Given the description of an element on the screen output the (x, y) to click on. 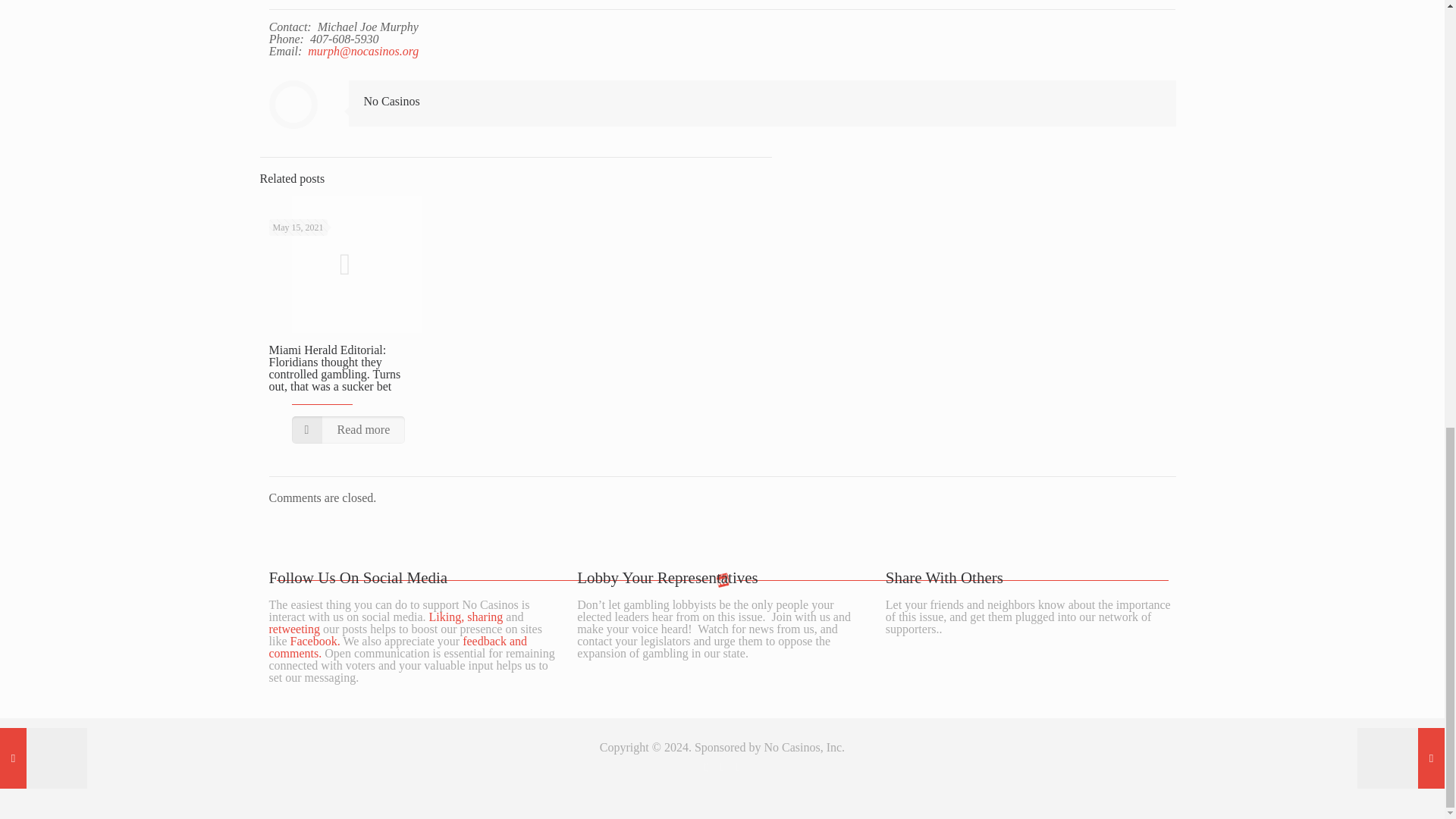
retweeting (293, 628)
No Casinos (392, 101)
sharing (484, 616)
Facebook. (314, 640)
Facebook (705, 767)
YouTube (738, 767)
Liking, (446, 616)
Read more (347, 429)
feedback and comments. (397, 647)
